Given the description of an element on the screen output the (x, y) to click on. 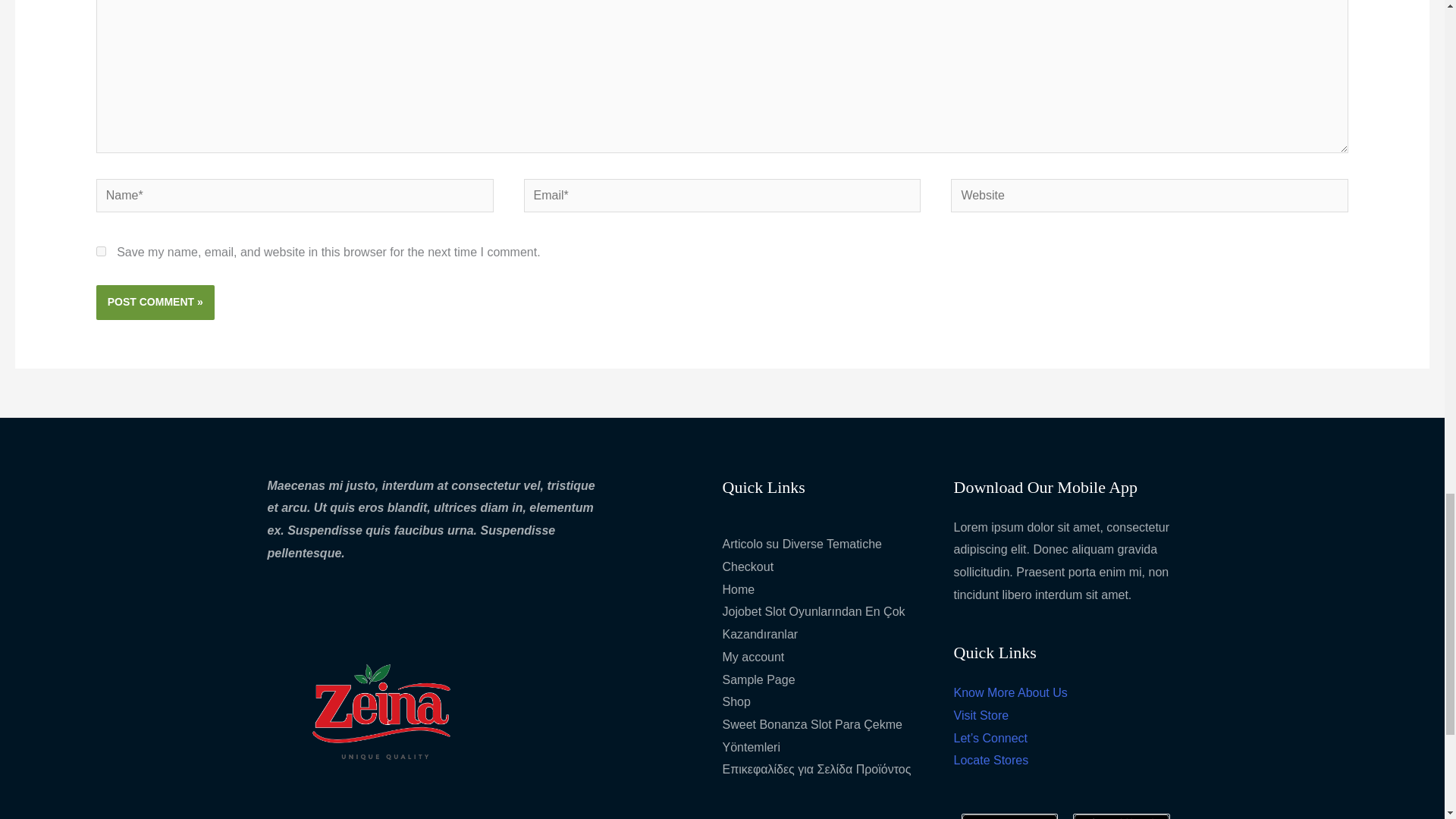
yes (101, 251)
